Given the description of an element on the screen output the (x, y) to click on. 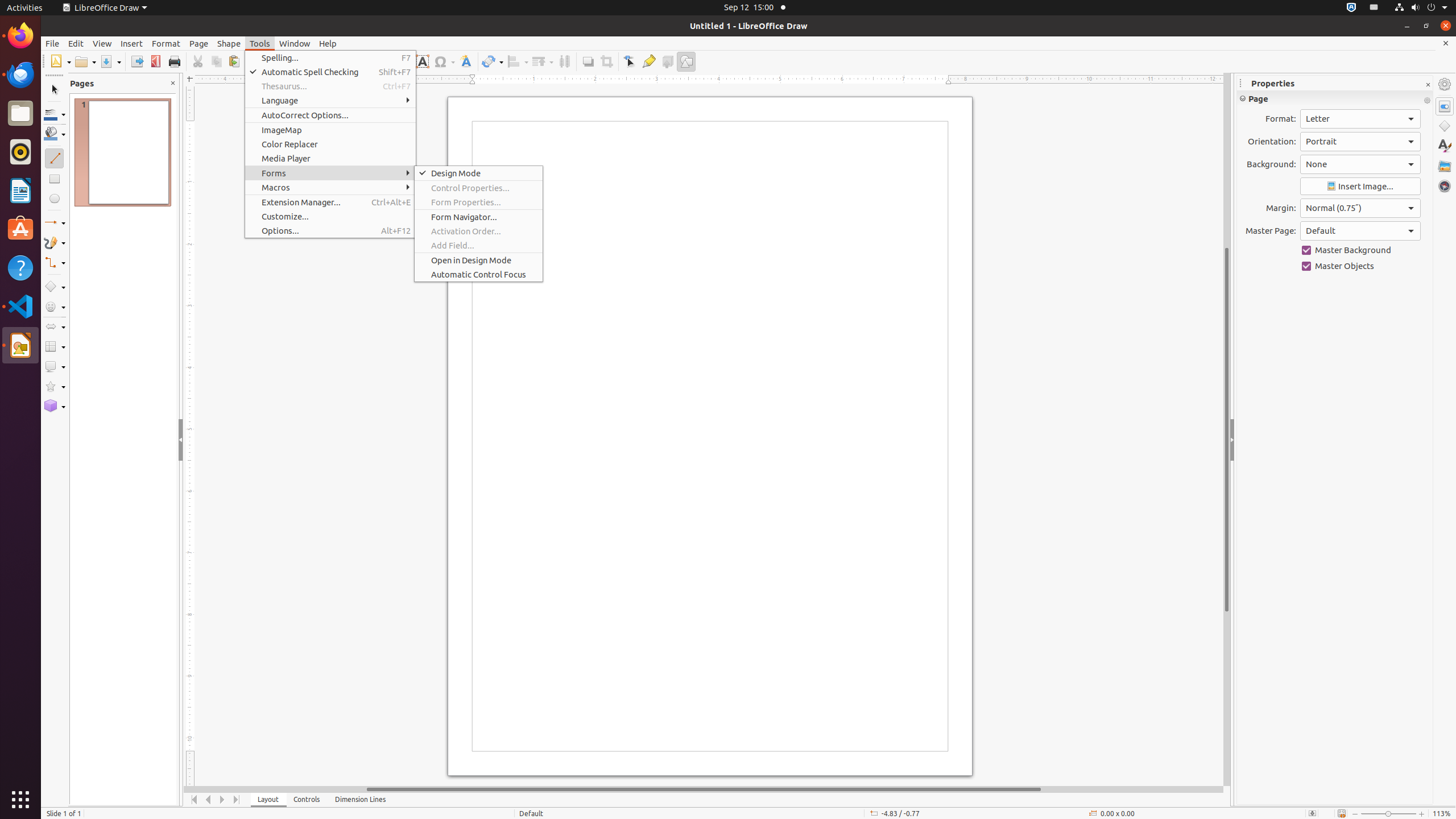
Show Applications Element type: toggle-button (20, 799)
Open in Design Mode Element type: check-menu-item (478, 260)
Controls Element type: page-tab (307, 799)
AutoCorrect Options... Element type: menu-item (330, 115)
Thesaurus... Element type: menu-item (330, 86)
